Given the description of an element on the screen output the (x, y) to click on. 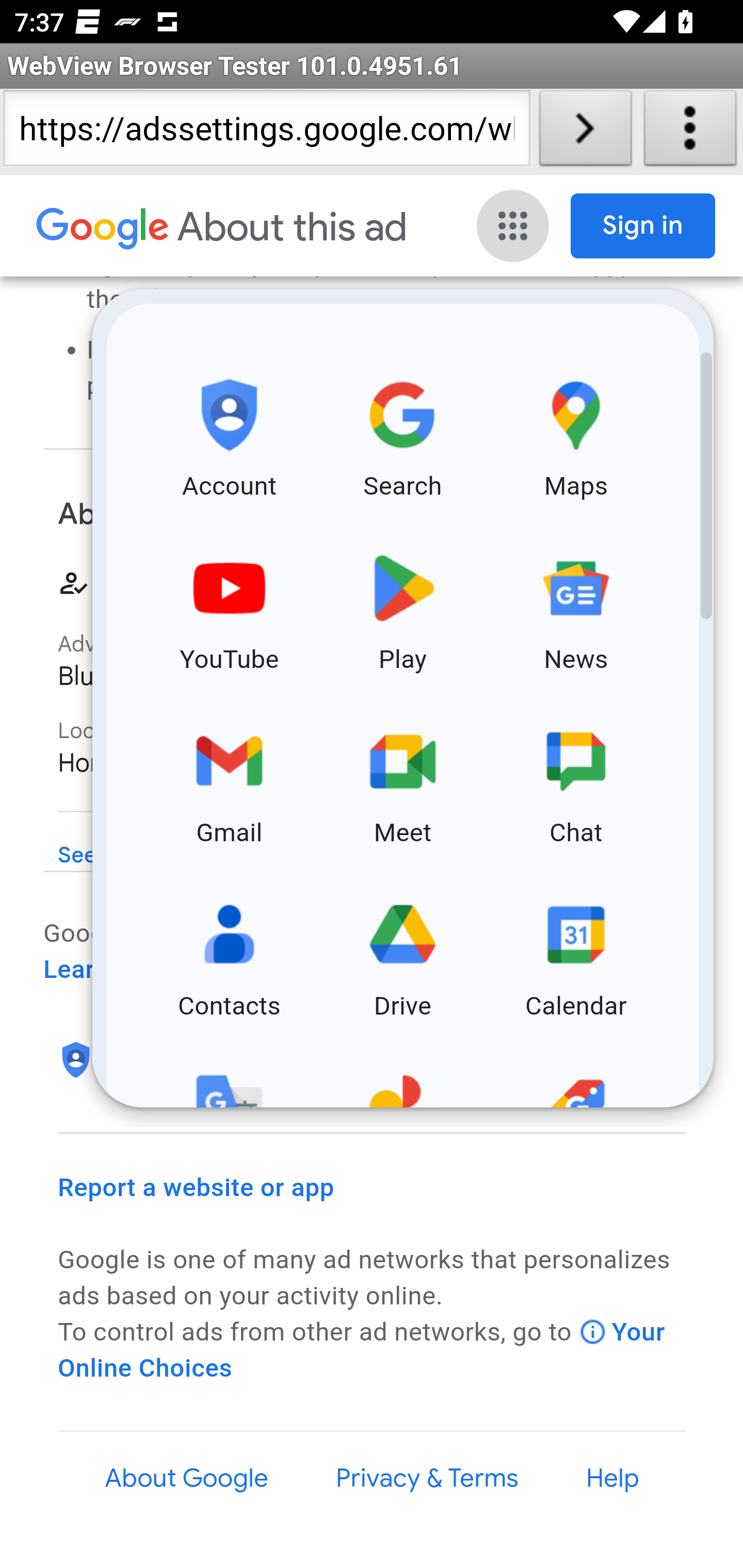
https://adssettings.google.com/whythisad (266, 132)
Load URL (585, 132)
About WebView (690, 132)
Google apps (513, 226)
Sign in (643, 226)
Report a website or app (196, 1187)
Your Online Choices (361, 1349)
About Google (186, 1478)
Privacy & Terms (426, 1478)
